Given the description of an element on the screen output the (x, y) to click on. 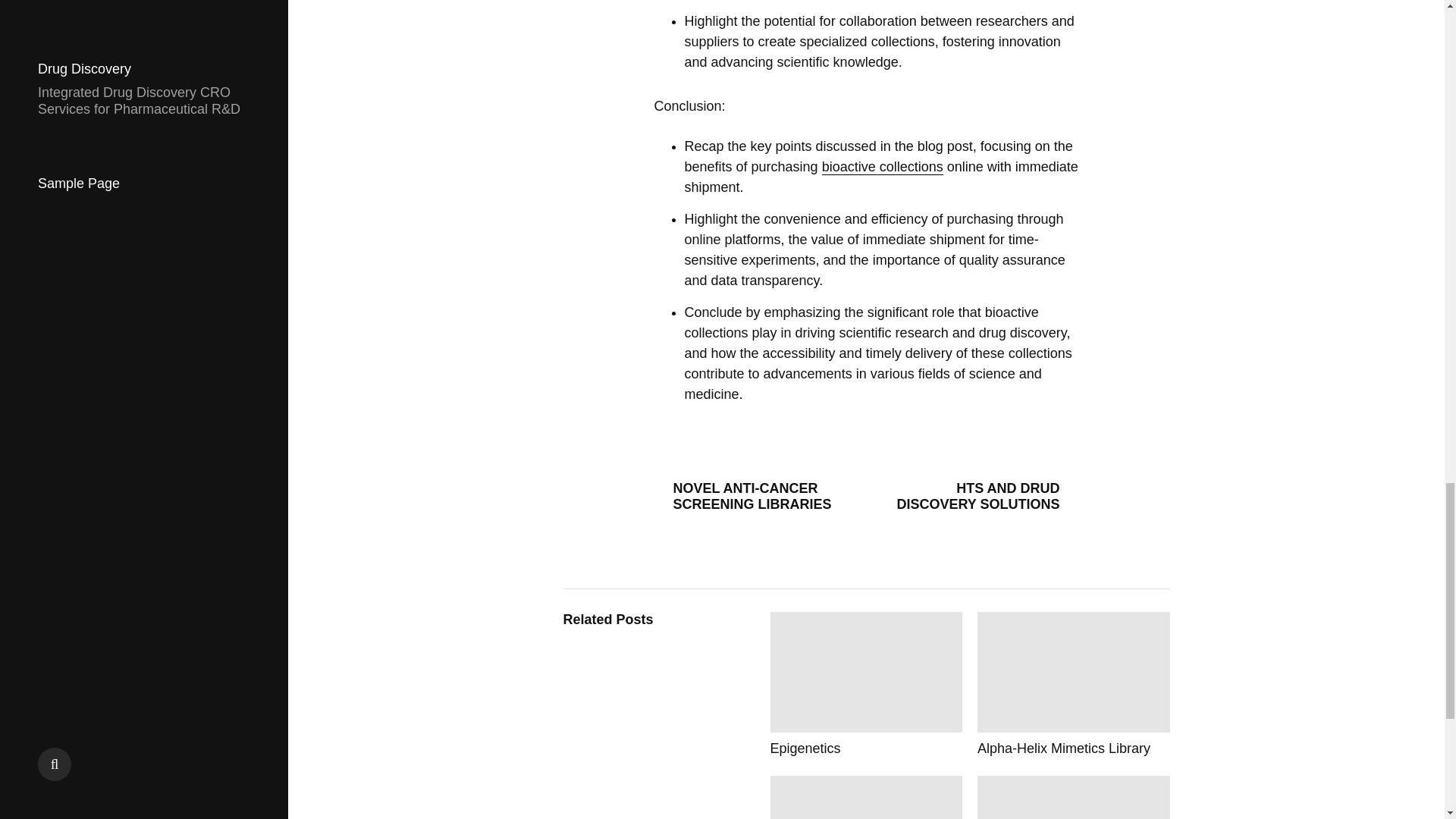
NOVEL ANTI-CANCER SCREENING LIBRARIES (753, 496)
bioactive collections (882, 166)
Epigenetics (866, 683)
HTS AND DRUD DISCOVERY SOLUTIONS (977, 496)
Alpha-Helix Mimetics Library (1073, 683)
